Given the description of an element on the screen output the (x, y) to click on. 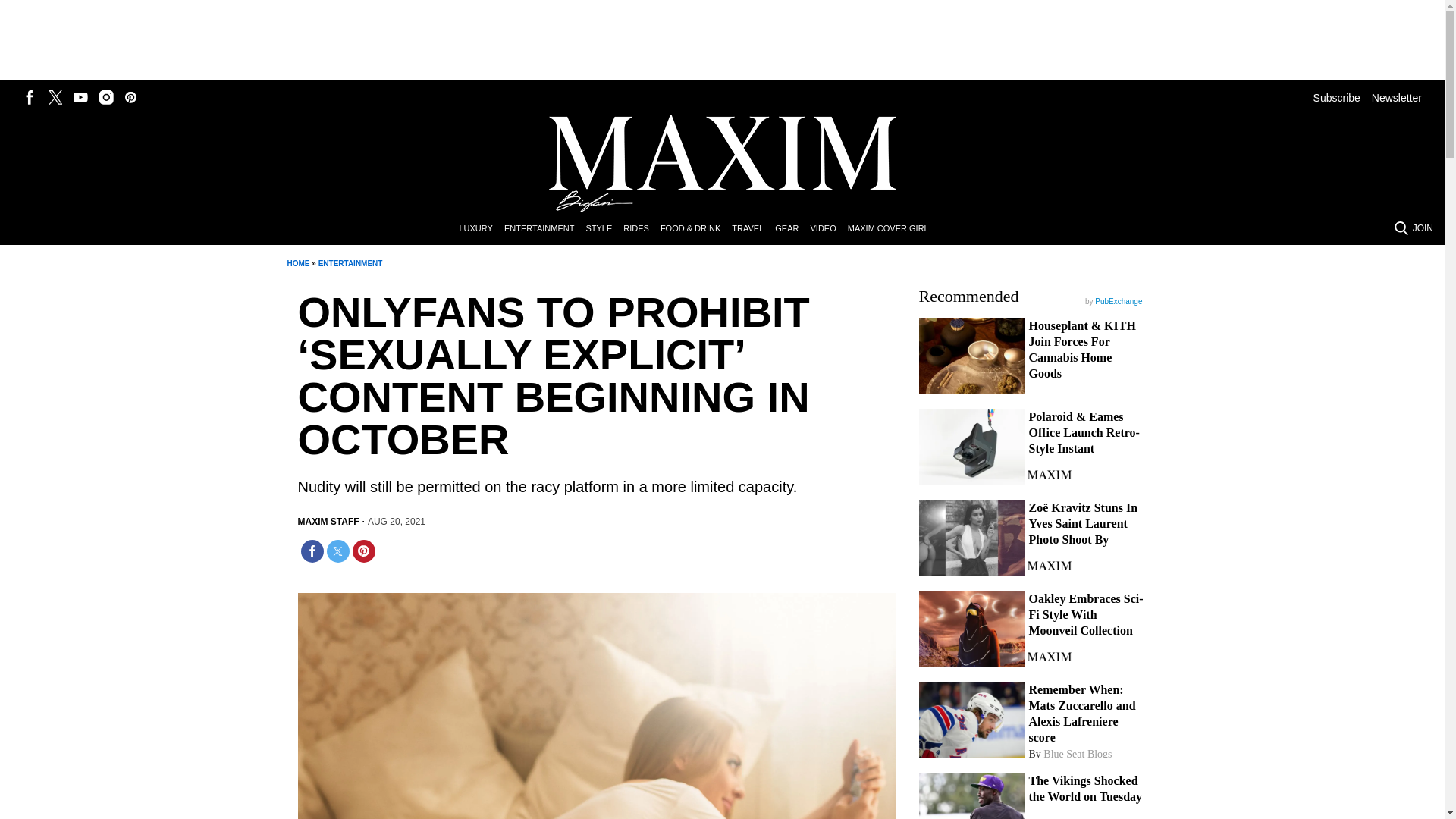
Share on Twitter (337, 550)
TRAVEL (753, 228)
Newsletter (1396, 97)
GEAR (791, 228)
MAXIM COVER GIRL (893, 228)
VIDEO (828, 228)
ENTERTAINMENT (544, 228)
Follow us on Twitter (55, 97)
STYLE (604, 228)
Posts by Maxim Staff (327, 521)
MAXIM STAFF (327, 521)
Subscribe (1336, 97)
Follow us on Facebook (30, 97)
JOIN (1422, 228)
LUXURY (480, 228)
